Given the description of an element on the screen output the (x, y) to click on. 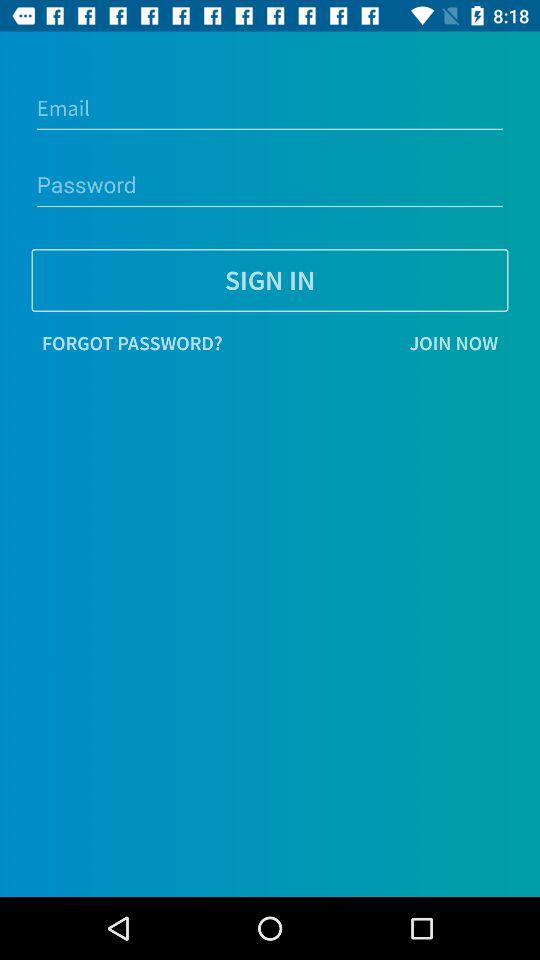
choose item on the right (370, 343)
